Given the description of an element on the screen output the (x, y) to click on. 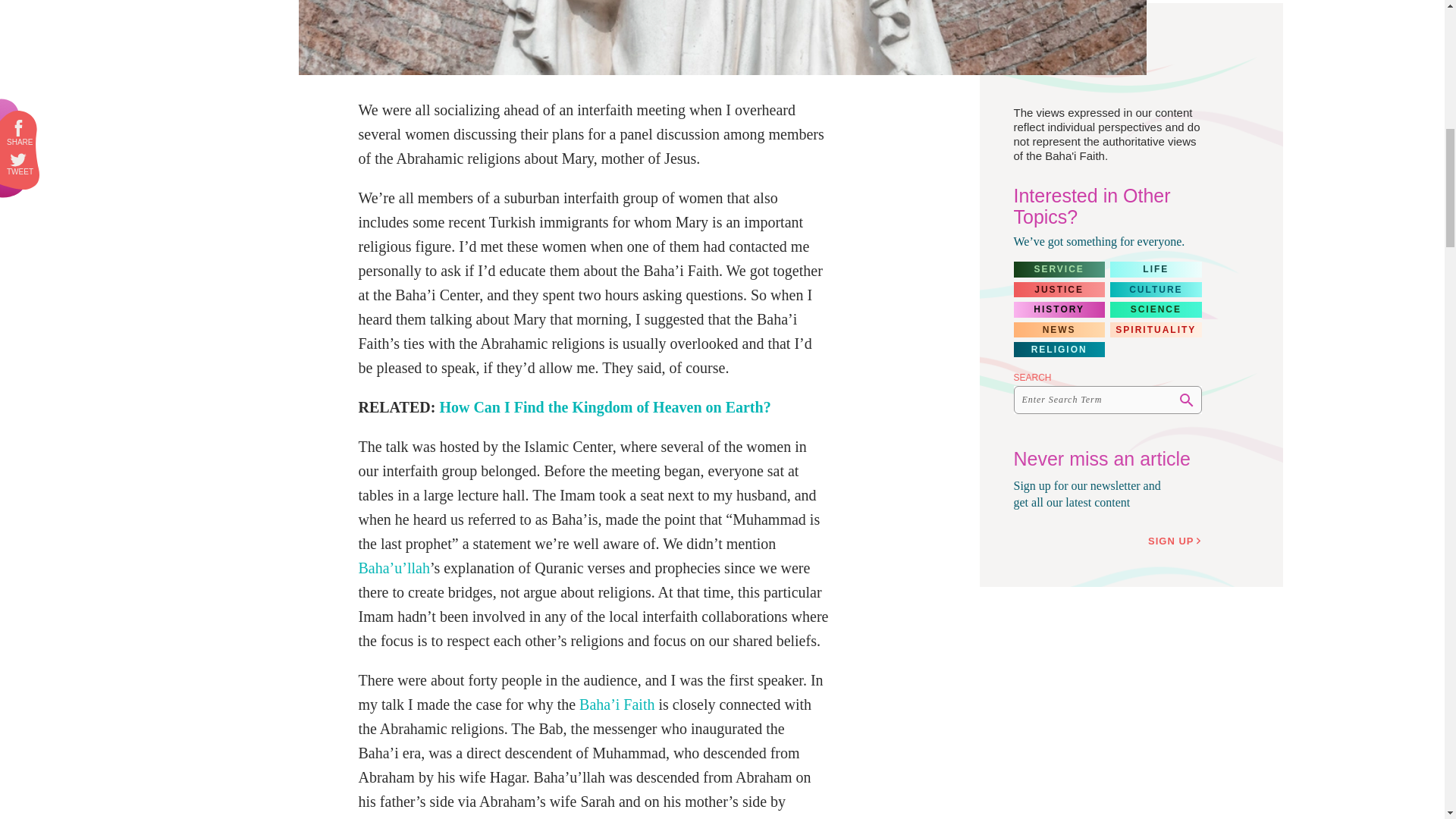
CULTURE (1155, 289)
SERVICE (1058, 268)
LIFE (1155, 268)
HISTORY (1058, 309)
Search for: (1107, 399)
How Can I Find the Kingdom of Heaven on Earth? (604, 406)
JUSTICE (1058, 289)
SPIRITUALITY (1155, 329)
Search (1185, 400)
RELIGION (1058, 349)
